Given the description of an element on the screen output the (x, y) to click on. 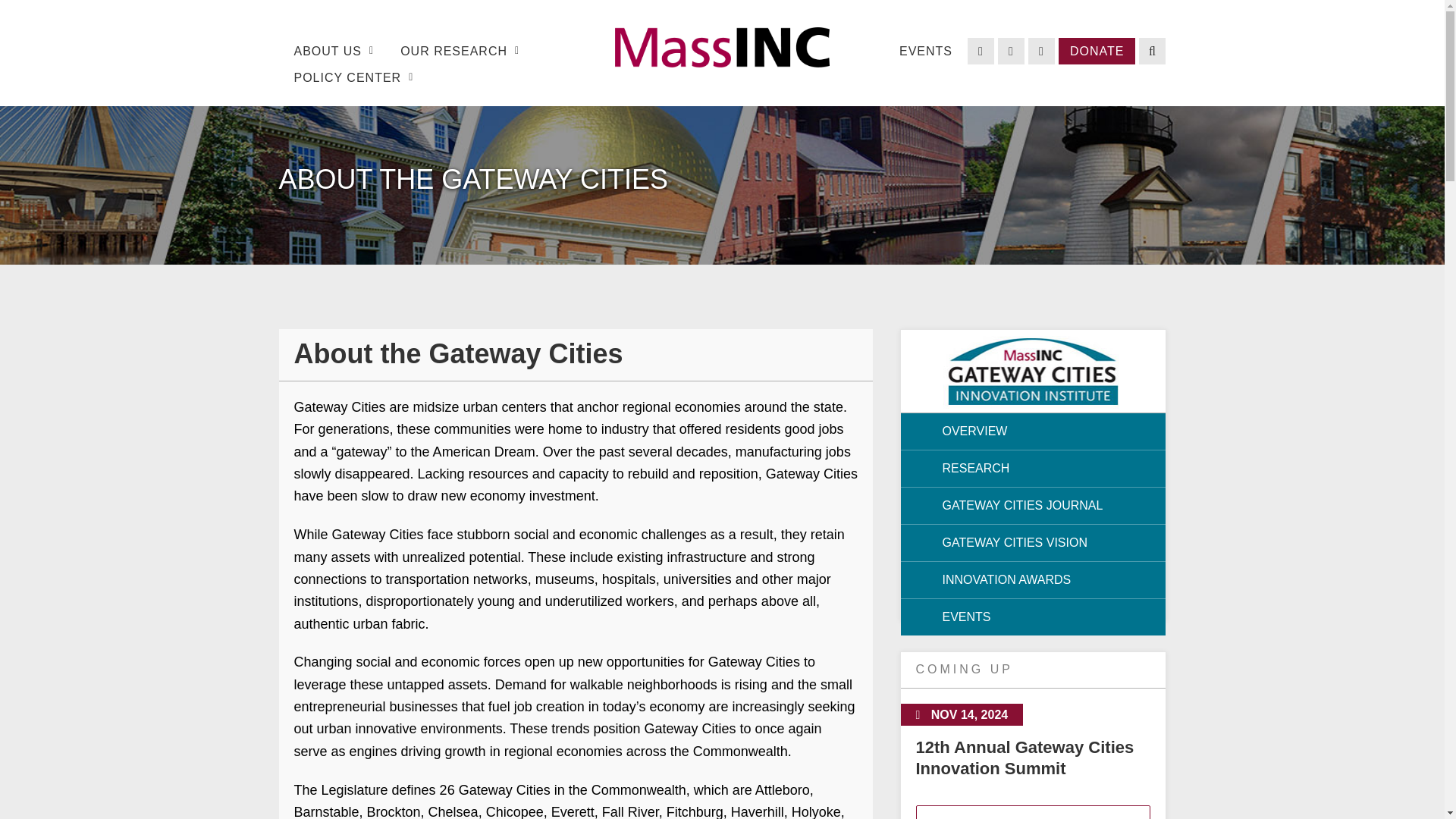
MassINC (721, 47)
ABOUT US (333, 50)
EVENTS (925, 50)
POLICY CENTER (353, 77)
OUR RESEARCH (459, 50)
MassINC (722, 59)
